Given the description of an element on the screen output the (x, y) to click on. 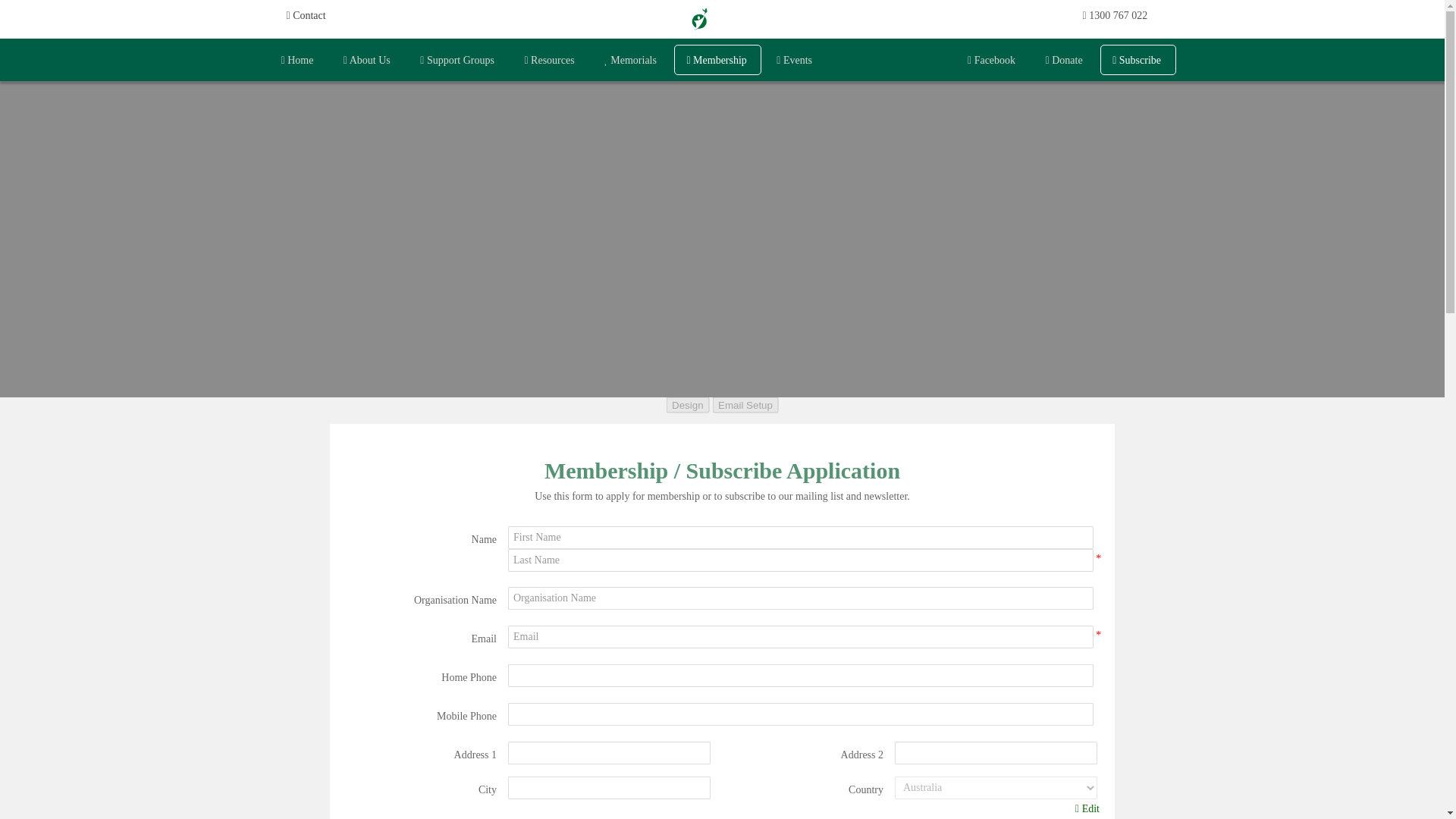
Membership (717, 60)
Events (795, 60)
Contact (308, 15)
Edit (1087, 809)
Donate (1065, 60)
Memorials (631, 60)
Subscribe (1137, 60)
About Us (367, 55)
Design (687, 404)
Email Setup (744, 404)
